Given the description of an element on the screen output the (x, y) to click on. 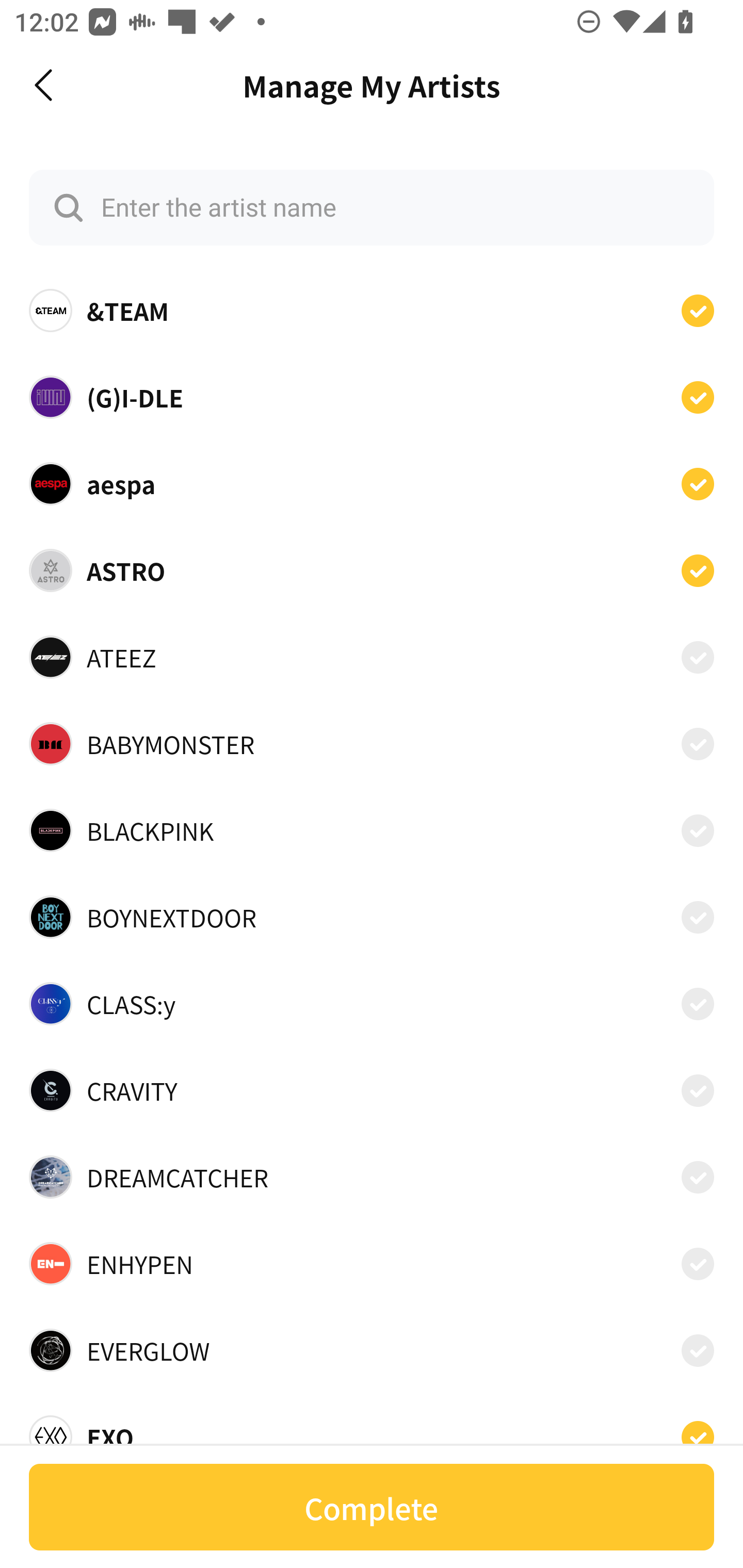
Enter the artist name (371, 207)
&TEAM (371, 310)
(G)I-DLE (371, 396)
aespa (371, 483)
ASTRO (371, 570)
ATEEZ (371, 656)
BABYMONSTER (371, 743)
BLACKPINK (371, 830)
BOYNEXTDOOR (371, 917)
CLASS:y (371, 1003)
CRAVITY (371, 1090)
DREAMCATCHER (371, 1176)
ENHYPEN (371, 1263)
EVERGLOW (371, 1350)
EXO (371, 1430)
Complete (371, 1507)
